Given the description of an element on the screen output the (x, y) to click on. 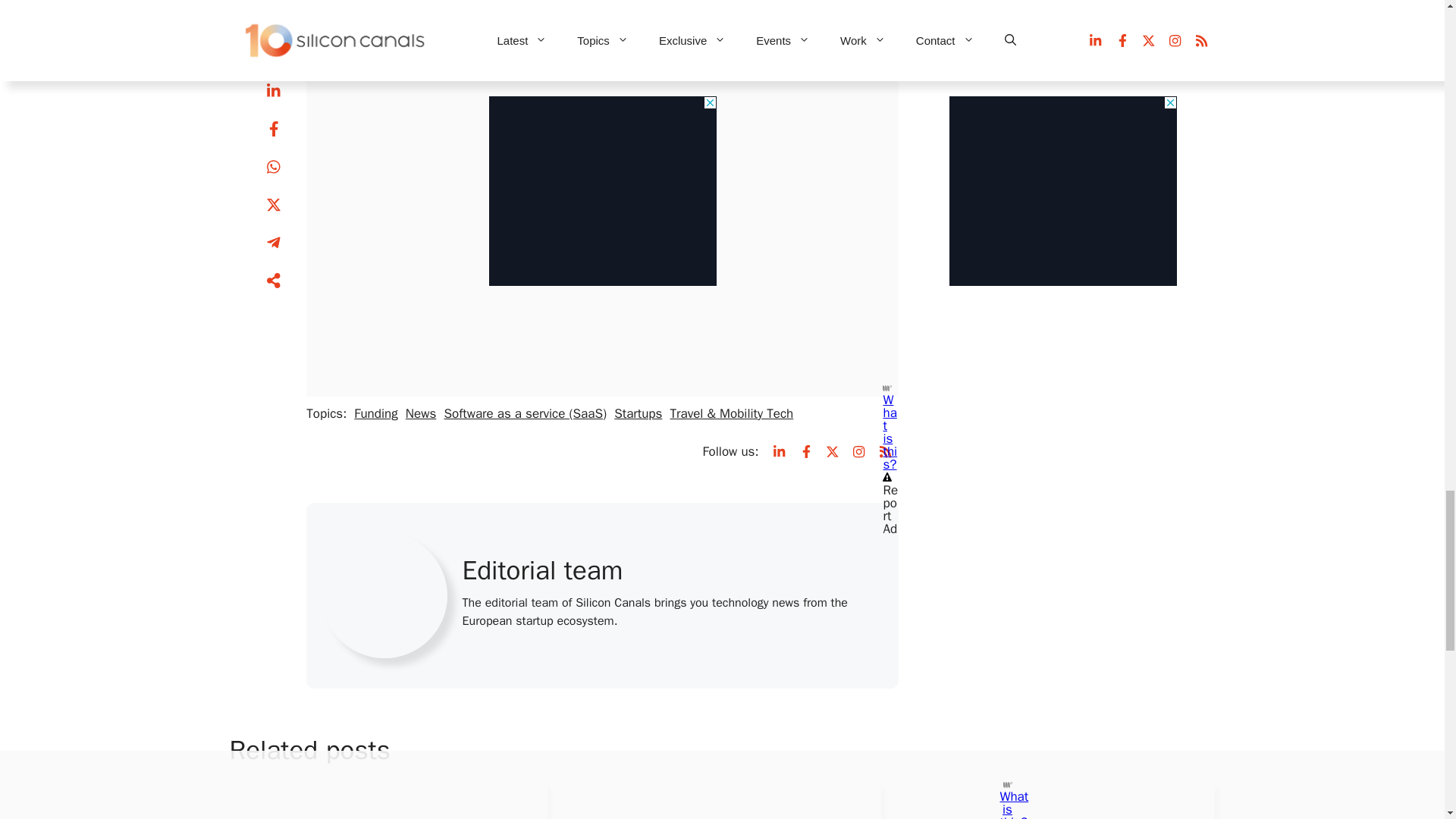
3rd party ad content (602, 157)
